Given the description of an element on the screen output the (x, y) to click on. 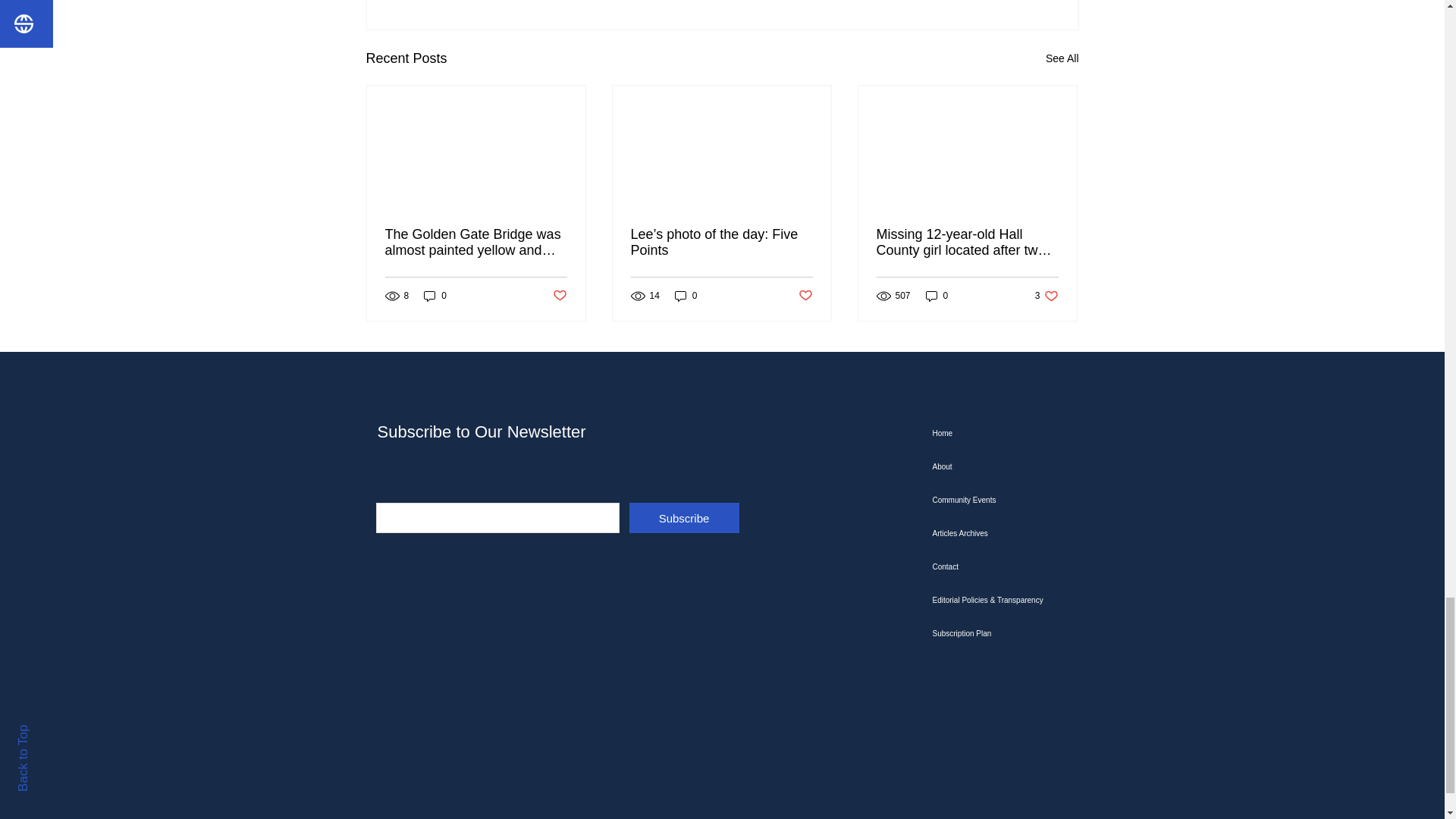
See All (1061, 58)
The Golden Gate Bridge was almost painted yellow and black (476, 242)
